Given the description of an element on the screen output the (x, y) to click on. 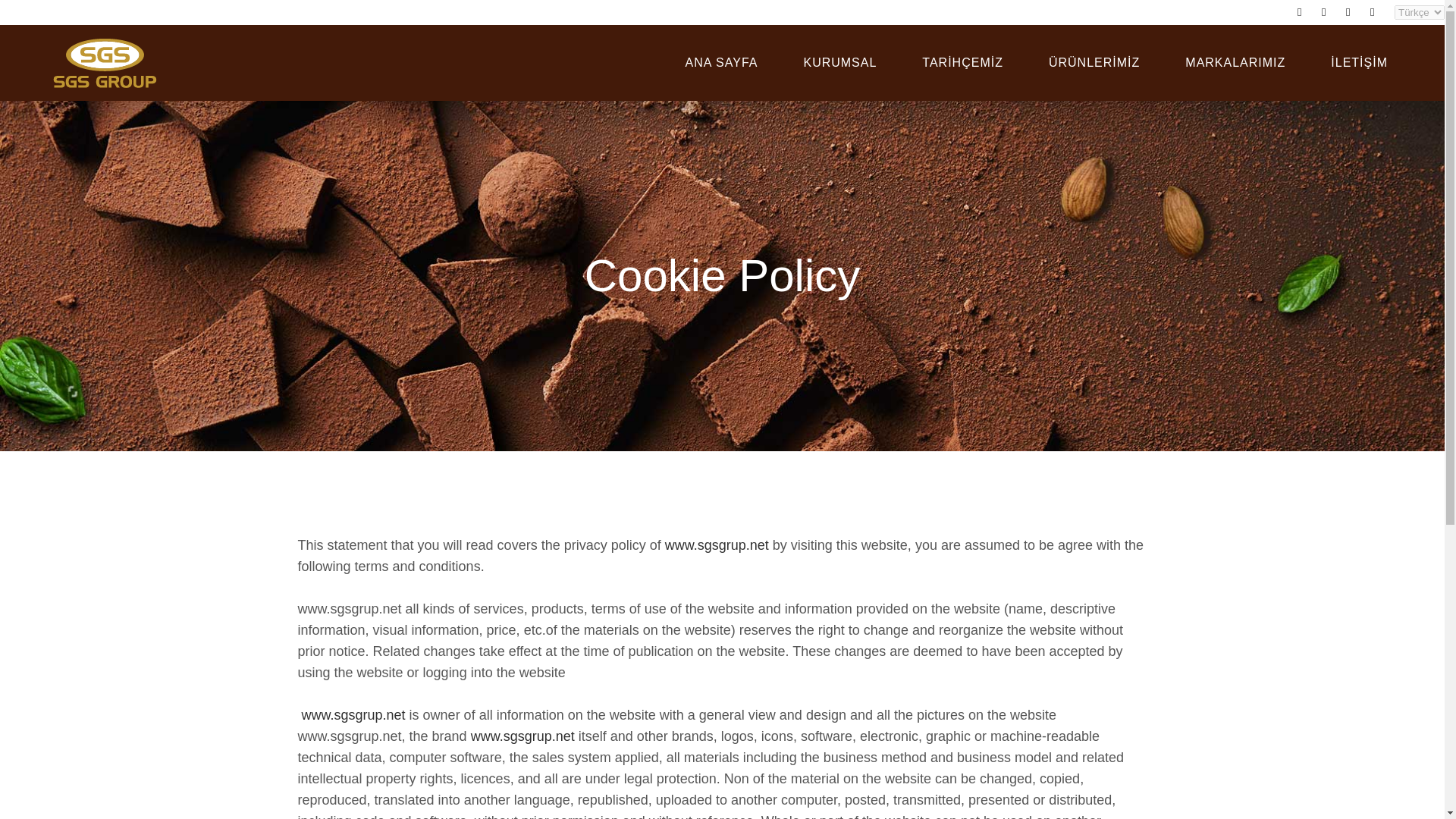
www.sgsgrup.net (716, 544)
www.sgsgrup.net (522, 735)
www.sgsgrup.net (353, 714)
MARKALARIMIZ (1234, 62)
KURUMSAL (839, 62)
ANA SAYFA (721, 62)
